Given the description of an element on the screen output the (x, y) to click on. 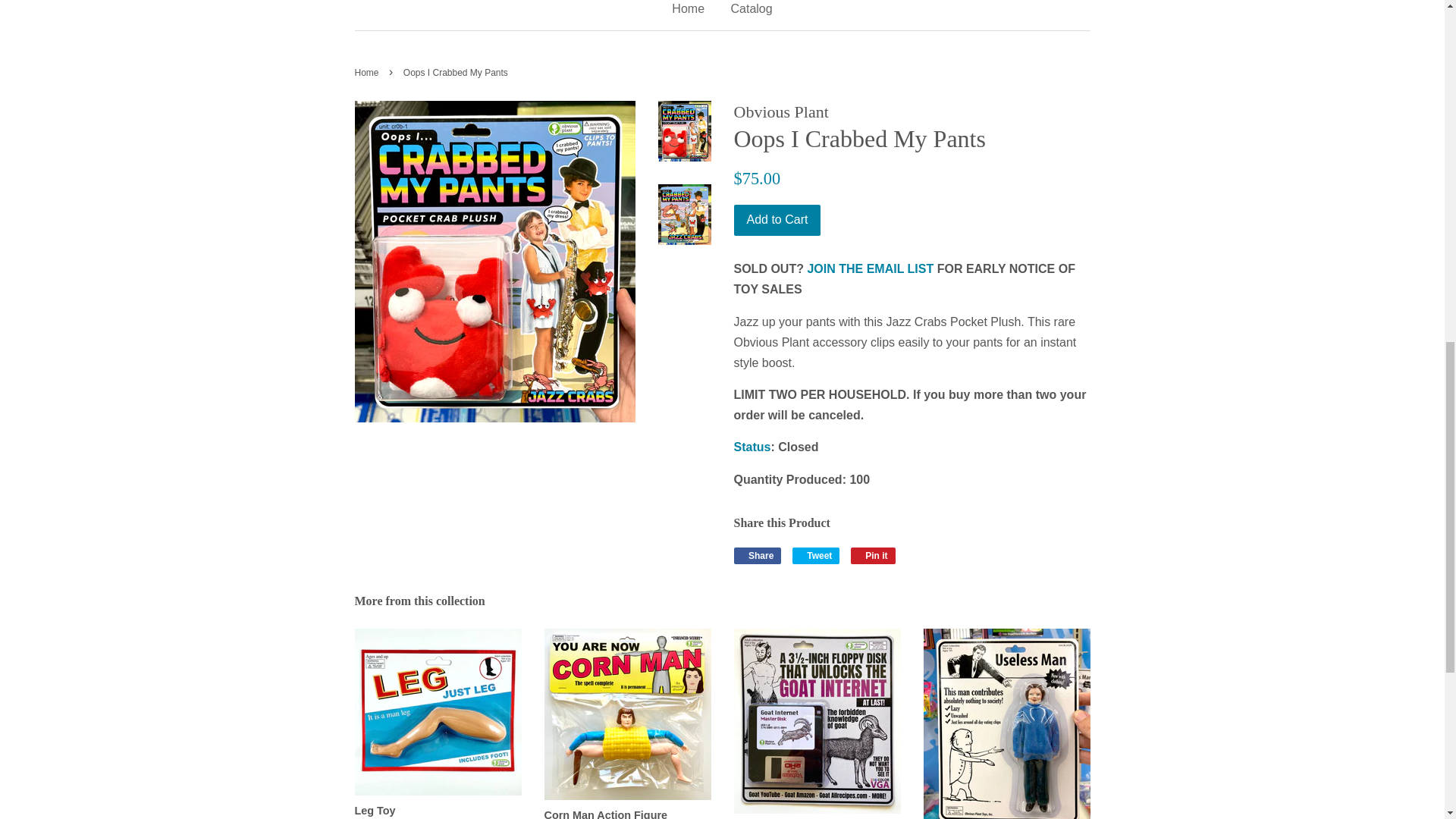
Tweet on Twitter (816, 555)
Share on Facebook (757, 555)
Pin on Pinterest (872, 555)
Catalog (745, 15)
Home (368, 72)
Add to Cart (777, 219)
Status (752, 446)
Back to the frontpage (368, 72)
JOIN THE EMAIL LIST (757, 555)
Home (869, 268)
